Given the description of an element on the screen output the (x, y) to click on. 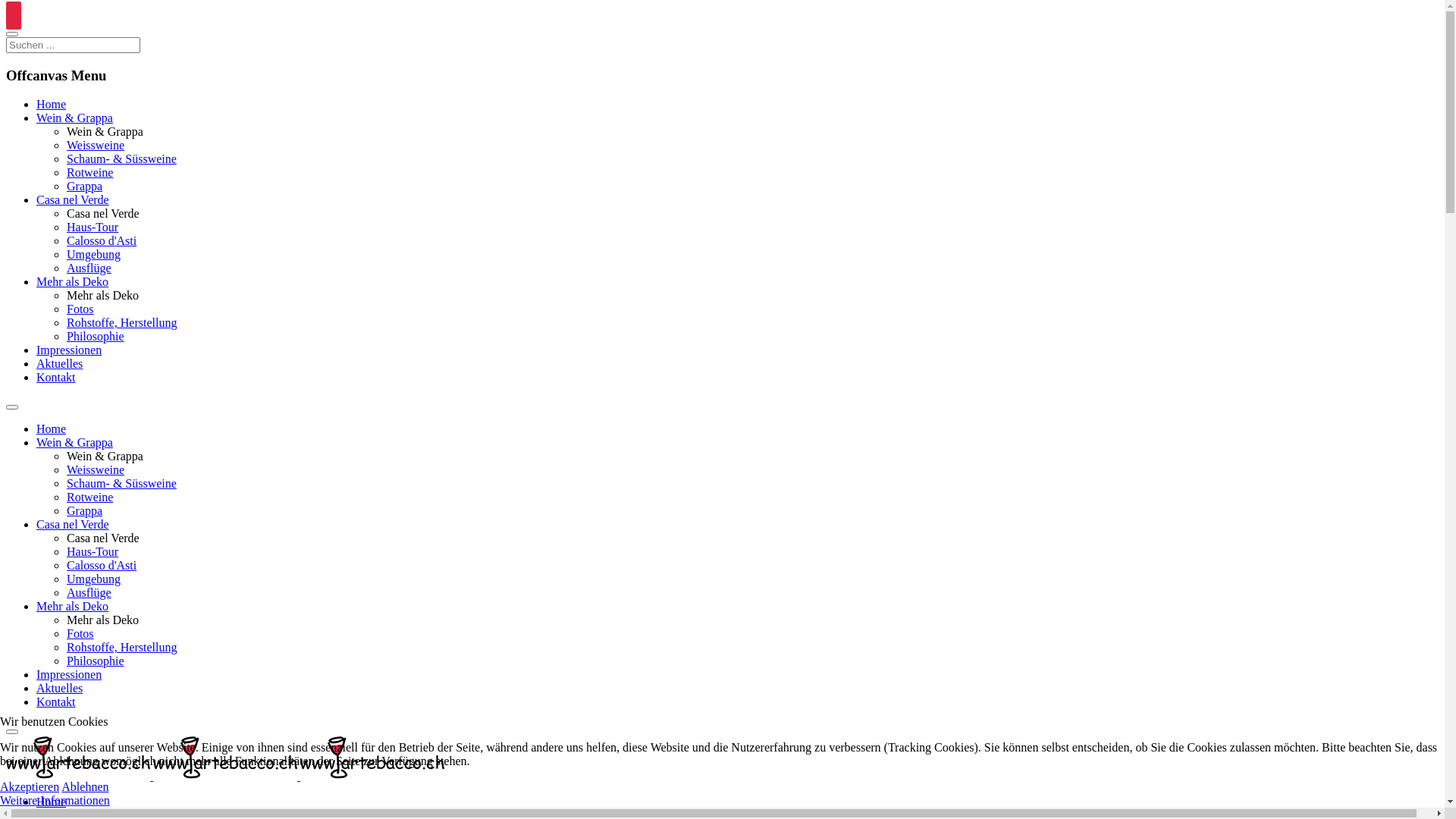
Philosophie Element type: text (95, 335)
Home Element type: text (50, 428)
Umgebung Element type: text (93, 578)
Umgebung Element type: text (93, 253)
Casa nel Verde Element type: text (72, 523)
Rotweine Element type: text (89, 172)
Kontakt Element type: text (55, 701)
Calosso d'Asti Element type: text (101, 564)
Grappa Element type: text (84, 510)
Back to Top Element type: hover (13, 15)
Calosso d'Asti Element type: text (101, 240)
Fotos Element type: text (80, 308)
Ablehnen Element type: text (84, 786)
Mehr als Deko Element type: text (72, 281)
Fotos Element type: text (80, 633)
Rotweine Element type: text (89, 496)
Philosophie Element type: text (95, 660)
Grappa Element type: text (84, 185)
Impressionen Element type: text (68, 674)
Aktuelles Element type: text (59, 363)
Home Element type: text (50, 103)
Impressionen Element type: text (68, 349)
Rohstoffe, Herstellung Element type: text (121, 322)
Weissweine Element type: text (95, 469)
Aktuelles Element type: text (59, 687)
Weissweine Element type: text (95, 144)
Haus-Tour Element type: text (92, 551)
Mehr als Deko Element type: text (72, 605)
Wein & Grappa Element type: text (74, 117)
Kontakt Element type: text (55, 376)
Casa nel Verde Element type: text (72, 199)
Wein & Grappa Element type: text (74, 442)
Weitere Informationen Element type: text (54, 799)
Home Element type: text (50, 801)
Rohstoffe, Herstellung Element type: text (121, 646)
Haus-Tour Element type: text (92, 226)
Akzeptieren Element type: text (29, 786)
